Given the description of an element on the screen output the (x, y) to click on. 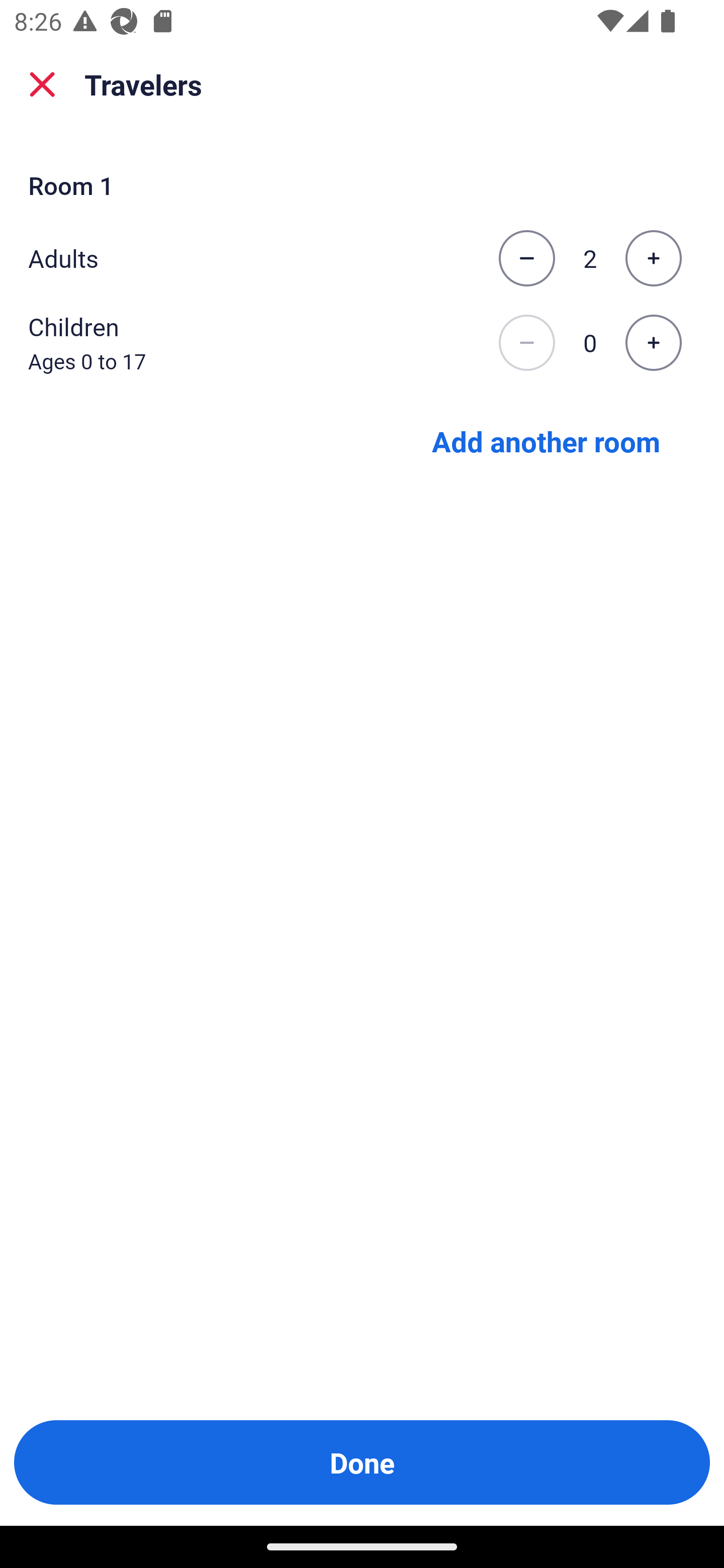
close (42, 84)
Decrease the number of adults (526, 258)
Increase the number of adults (653, 258)
Decrease the number of children (526, 343)
Increase the number of children (653, 343)
Add another room (545, 440)
Done (361, 1462)
